Given the description of an element on the screen output the (x, y) to click on. 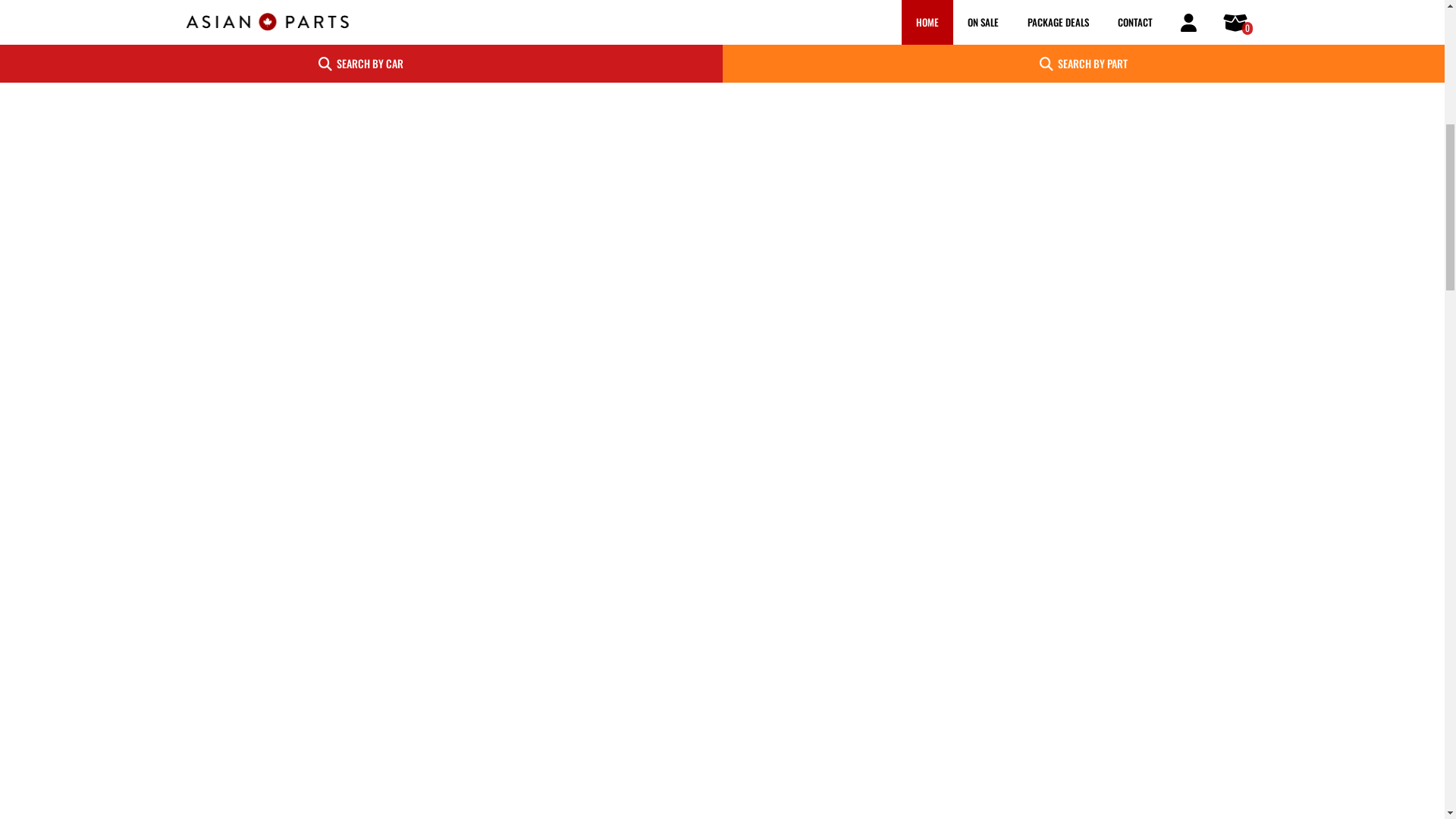
ON SALE Element type: text (983, 580)
  SEARCH BY PART Element type: text (1082, 622)
CONTACT Element type: text (1135, 580)
NEED HELP: CLICK HERE Element type: text (679, 96)
PACKAGE DEALS Element type: text (1058, 580)
HOME Element type: text (927, 580)
  SEARCH BY CAR Element type: text (361, 622)
1-855-945-3699 Element type: text (775, 96)
